Given the description of an element on the screen output the (x, y) to click on. 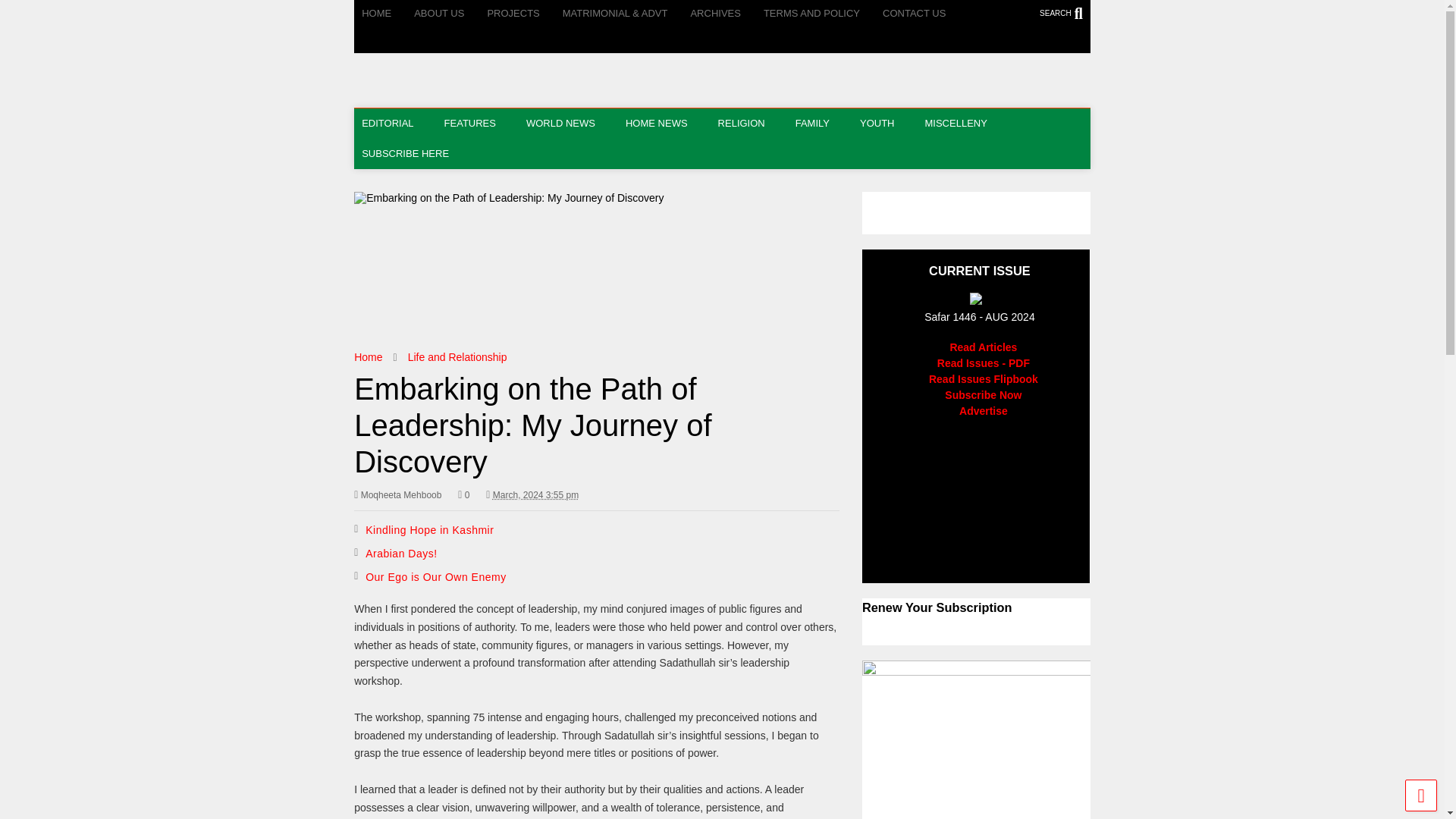
PROJECTS (524, 13)
SEARCH (1064, 13)
Kindling Hope in Kashmir (429, 530)
ARCHIVES (726, 13)
TERMS AND POLICY (822, 13)
EDITORIAL (394, 123)
Moqheeta Mehboob (397, 494)
FEATURES (477, 123)
Our Ego is Our Own Enemy (435, 576)
